Given the description of an element on the screen output the (x, y) to click on. 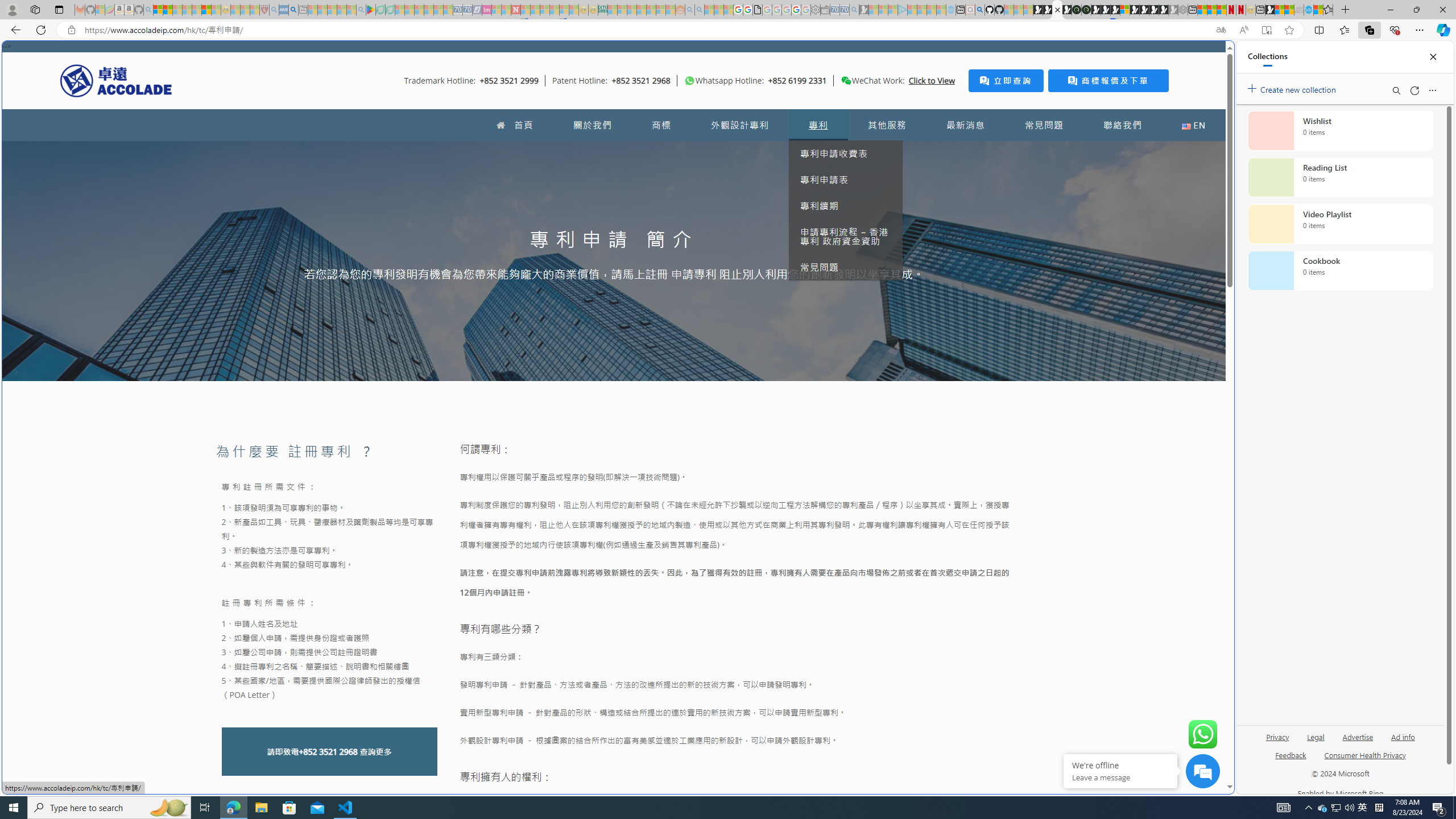
Wishlist collection, 0 items (1339, 130)
